Given the description of an element on the screen output the (x, y) to click on. 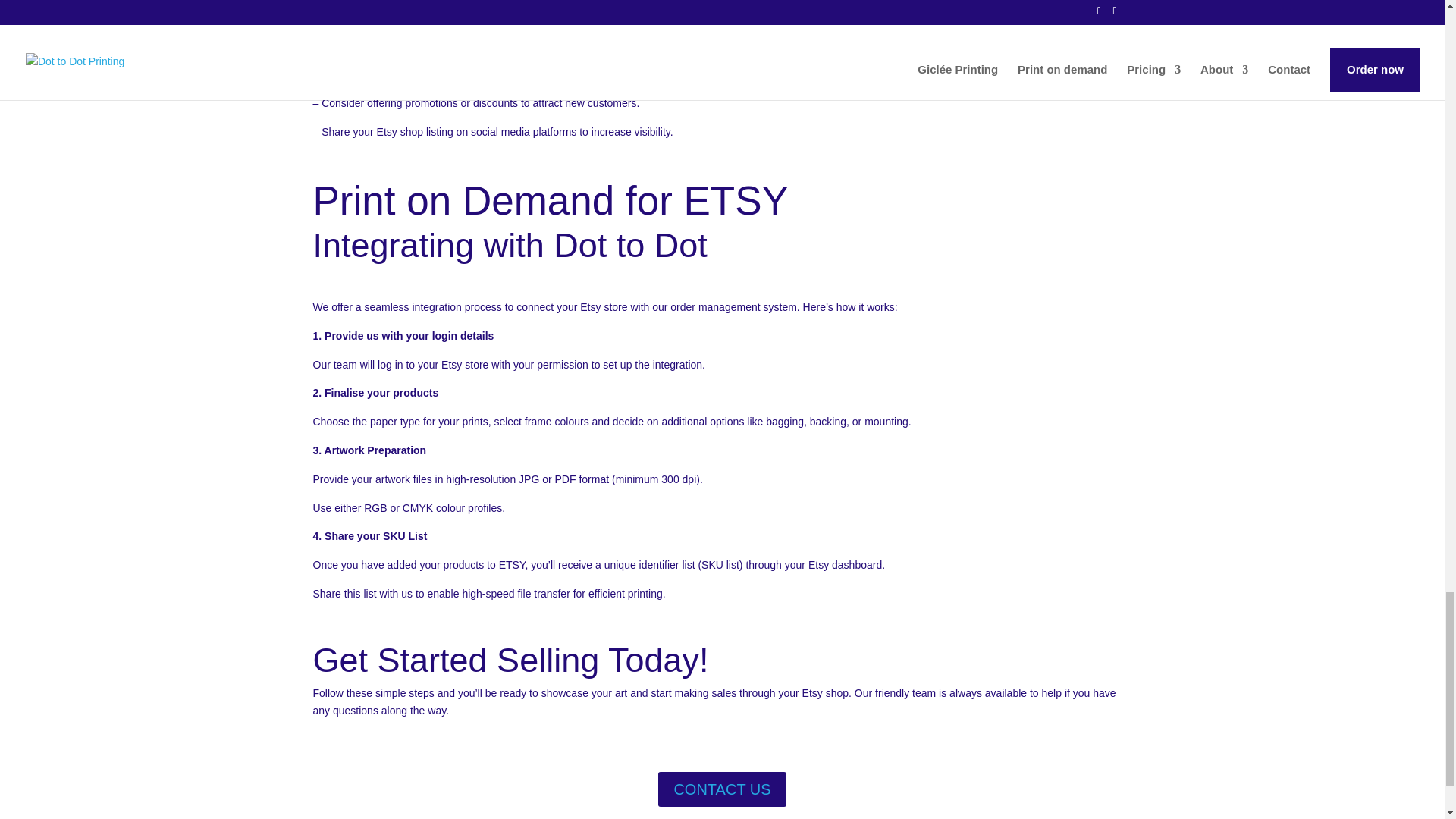
CONTACT US (722, 789)
